Given the description of an element on the screen output the (x, y) to click on. 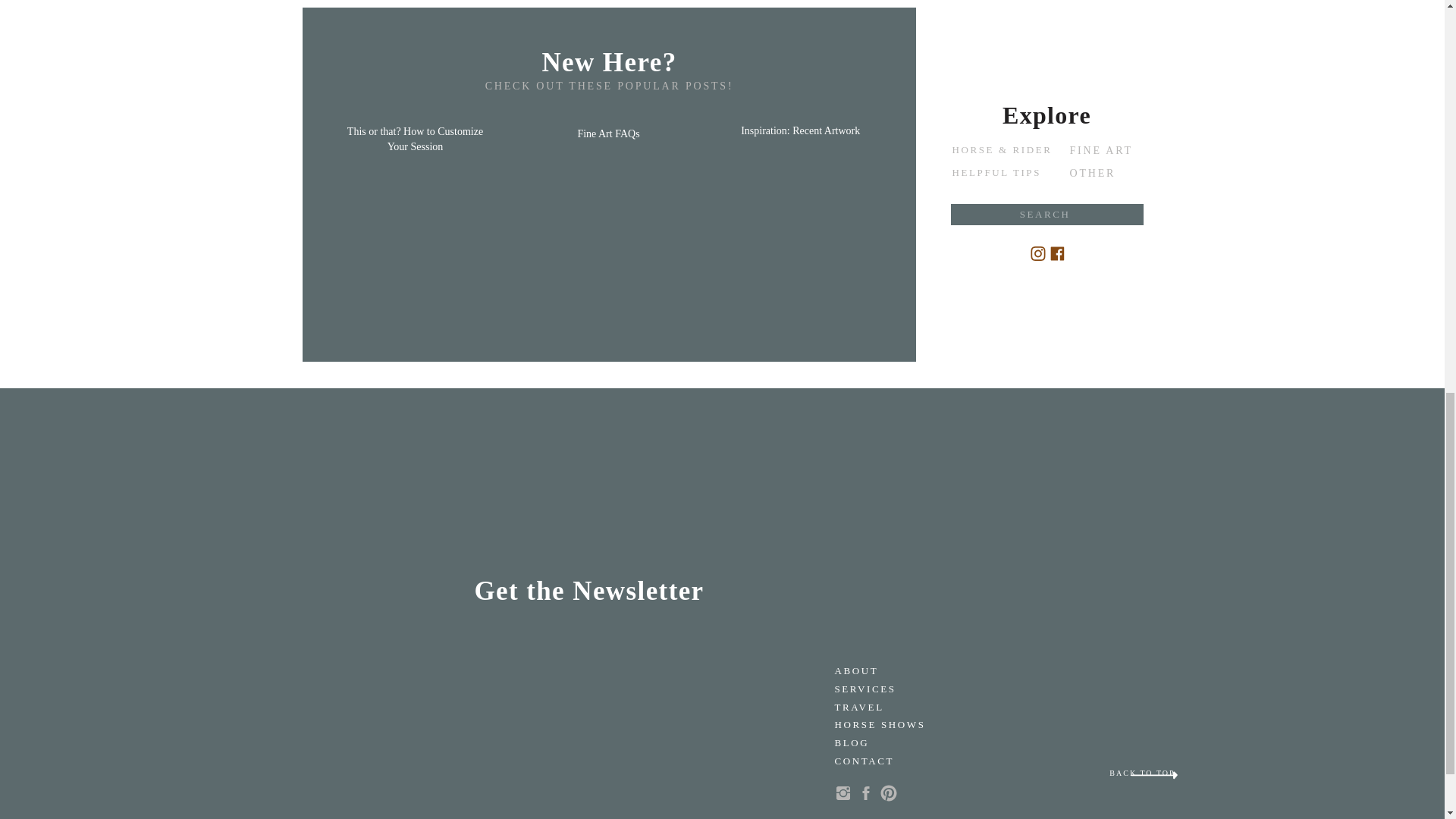
This or that? How to Customize Your Session (414, 142)
FINE ART (1103, 152)
Instagram-color Created with Sketch. (1037, 253)
Fine Art FAQs (608, 144)
HELPFUL TIPS (1003, 175)
OTHER (1103, 175)
Facebook Copy-color Created with Sketch. (1056, 253)
Instagram-color Created with Sketch. (1037, 253)
Facebook Copy-color Created with Sketch. (1056, 253)
Inspiration: Recent Artwork  (802, 141)
